Given the description of an element on the screen output the (x, y) to click on. 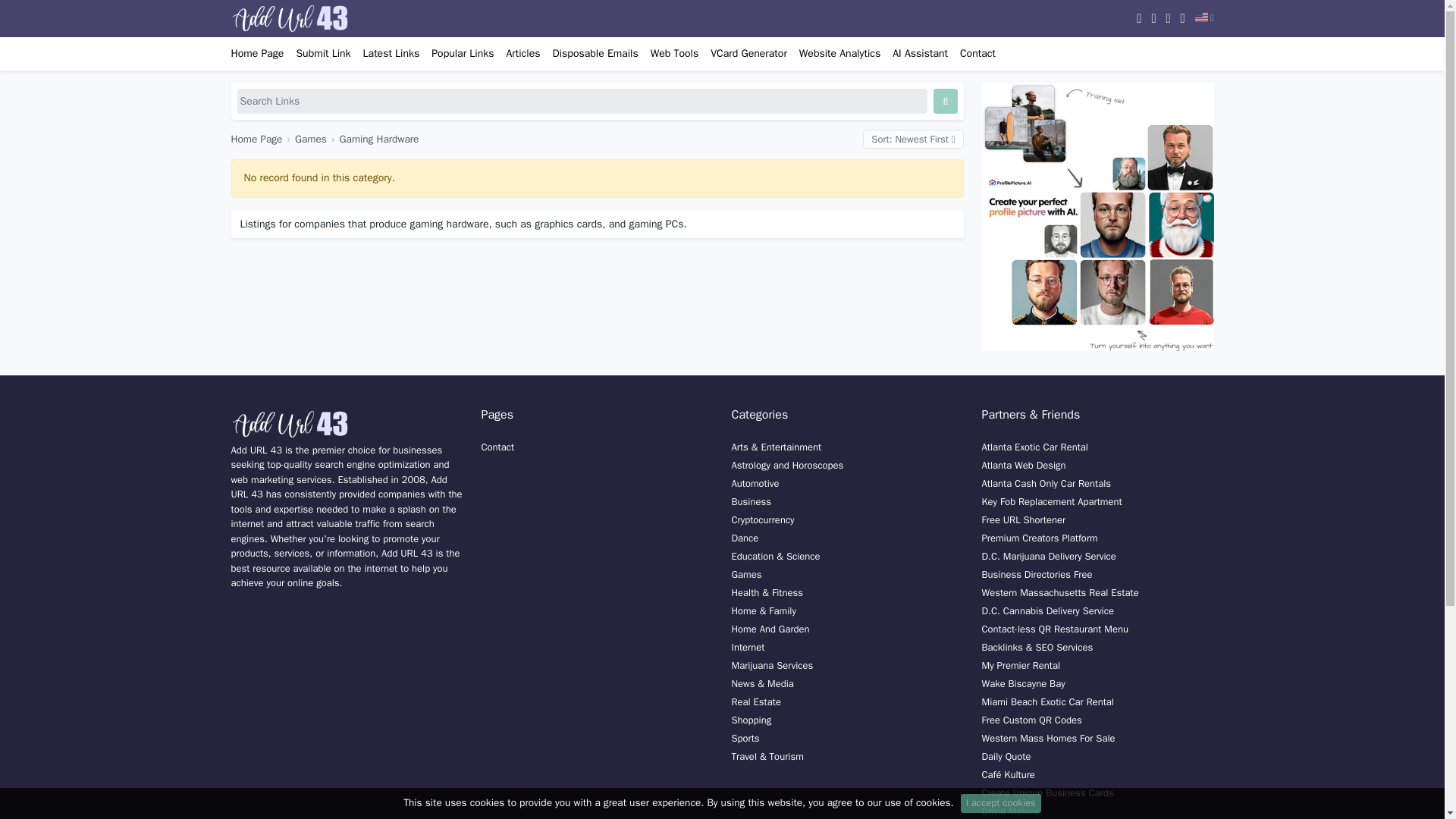
Submit Link (322, 53)
Automotive (754, 482)
AI Assistant (919, 53)
Home Page (256, 138)
Business (750, 501)
Sort: Newest First (912, 139)
Contact (977, 53)
Cryptocurrency (761, 519)
Games (310, 138)
Contact (496, 446)
